Given the description of an element on the screen output the (x, y) to click on. 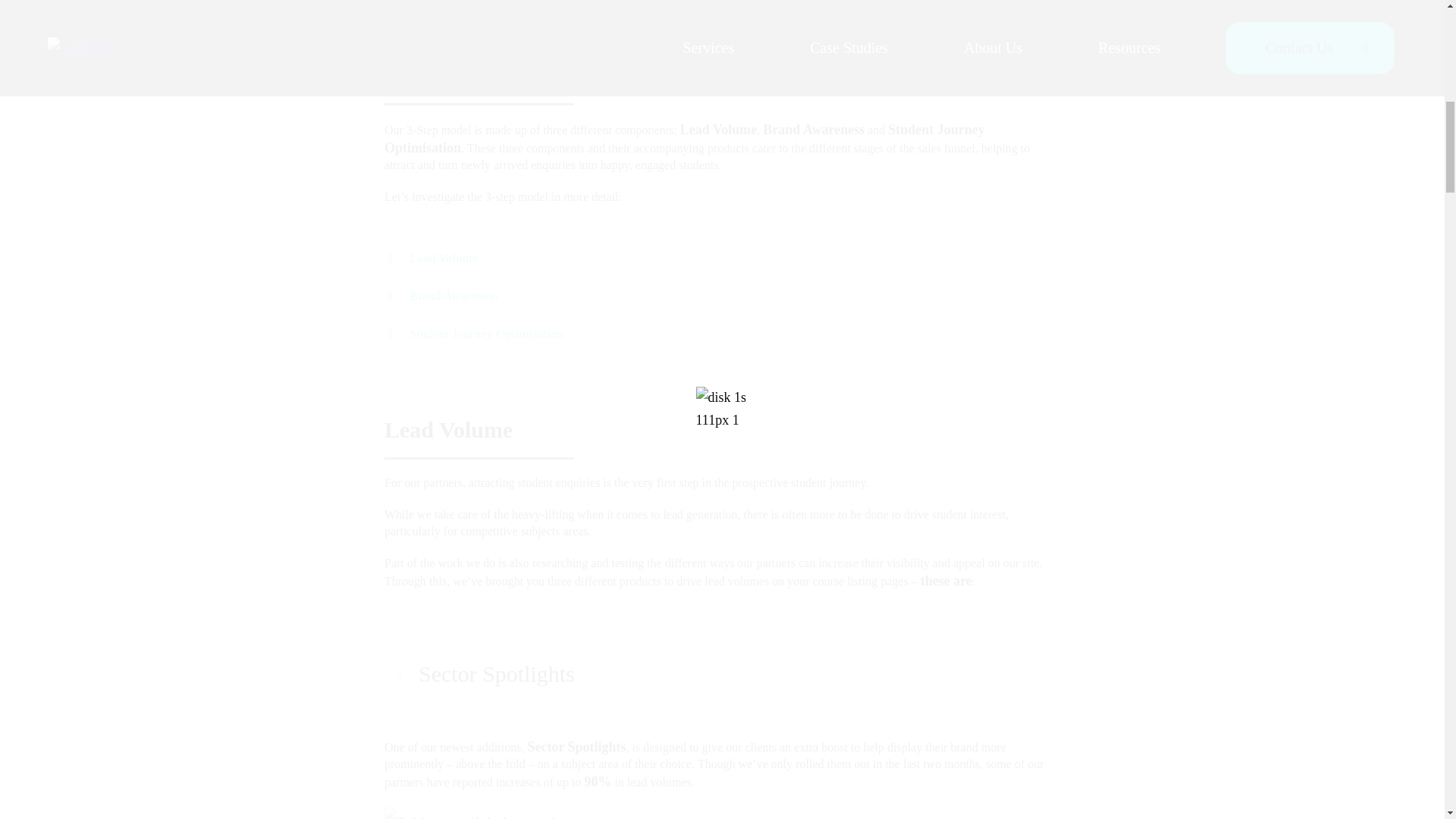
Subject spotlight laptop uk (471, 813)
Lead Volume (444, 258)
Student Journey Optimisation (486, 334)
Brand Awareness (454, 296)
